Given the description of an element on the screen output the (x, y) to click on. 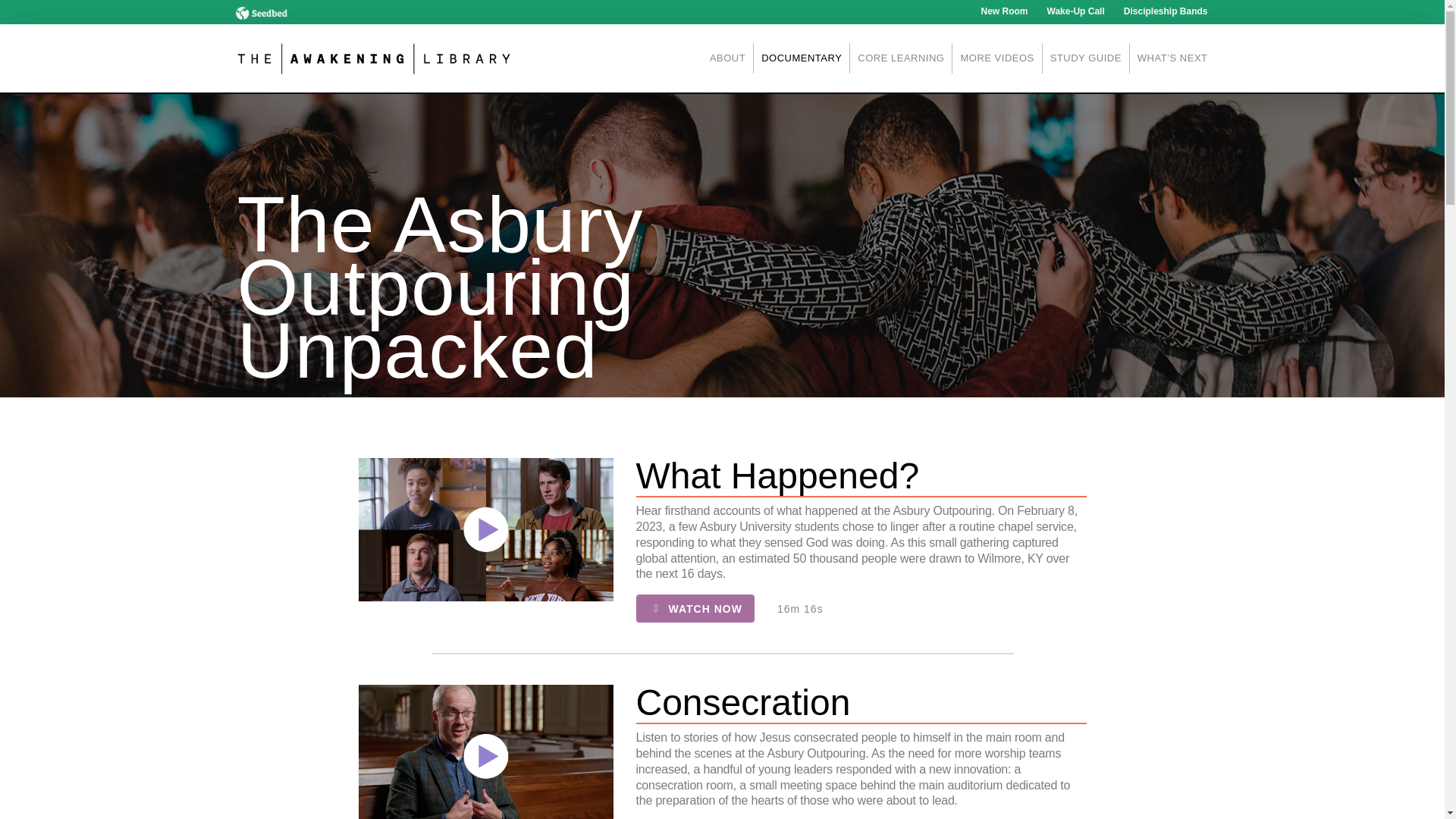
DOCUMENTARY (801, 57)
New Room (1004, 12)
MORE VIDEOS (996, 57)
STUDY GUIDE (1085, 57)
Wake-Up Call (1075, 12)
CORE LEARNING (901, 57)
Discipleship Bands (1166, 12)
WATCH NOW (694, 608)
